Given the description of an element on the screen output the (x, y) to click on. 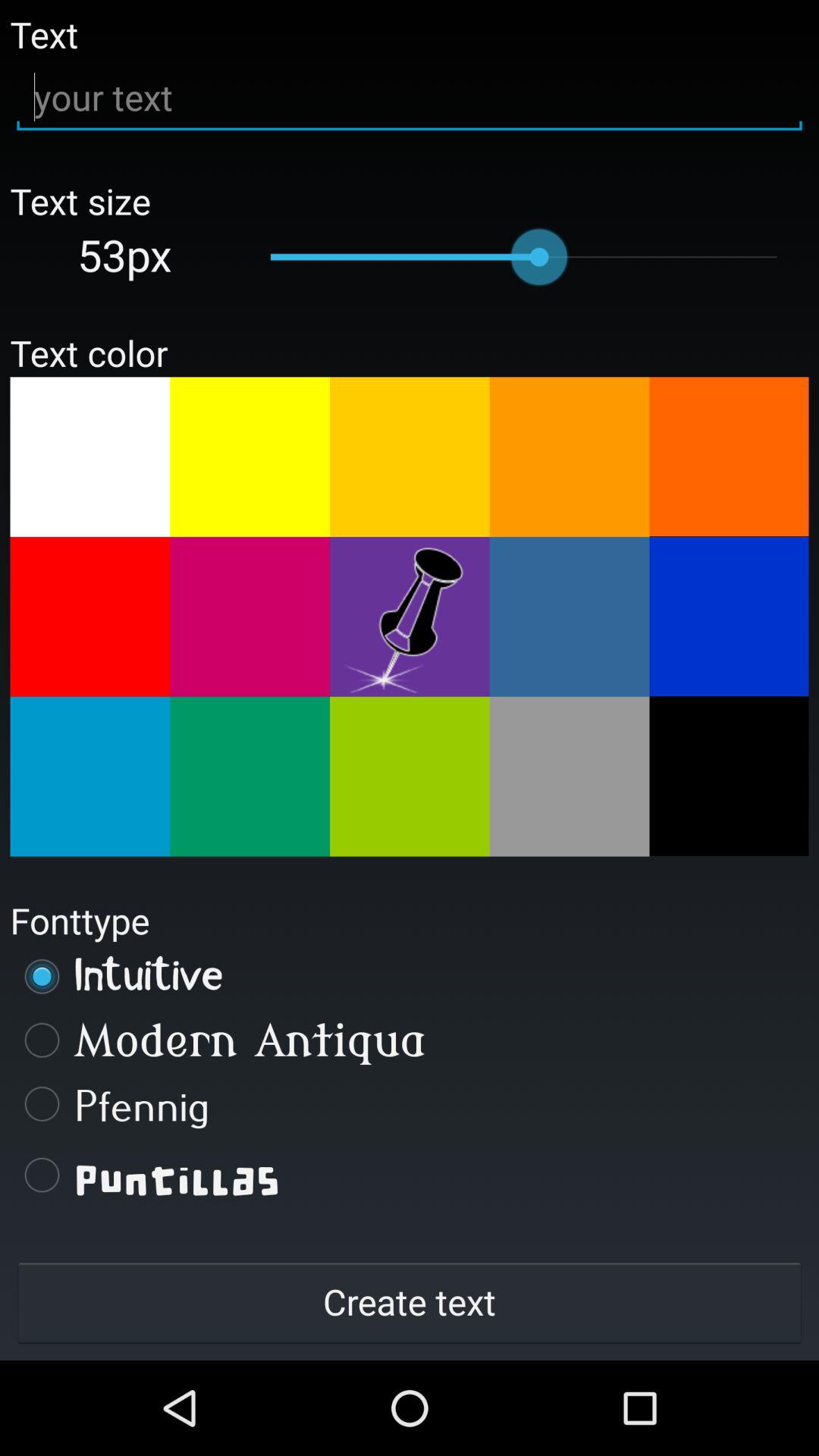
launch icon below intuitive item (409, 1040)
